Given the description of an element on the screen output the (x, y) to click on. 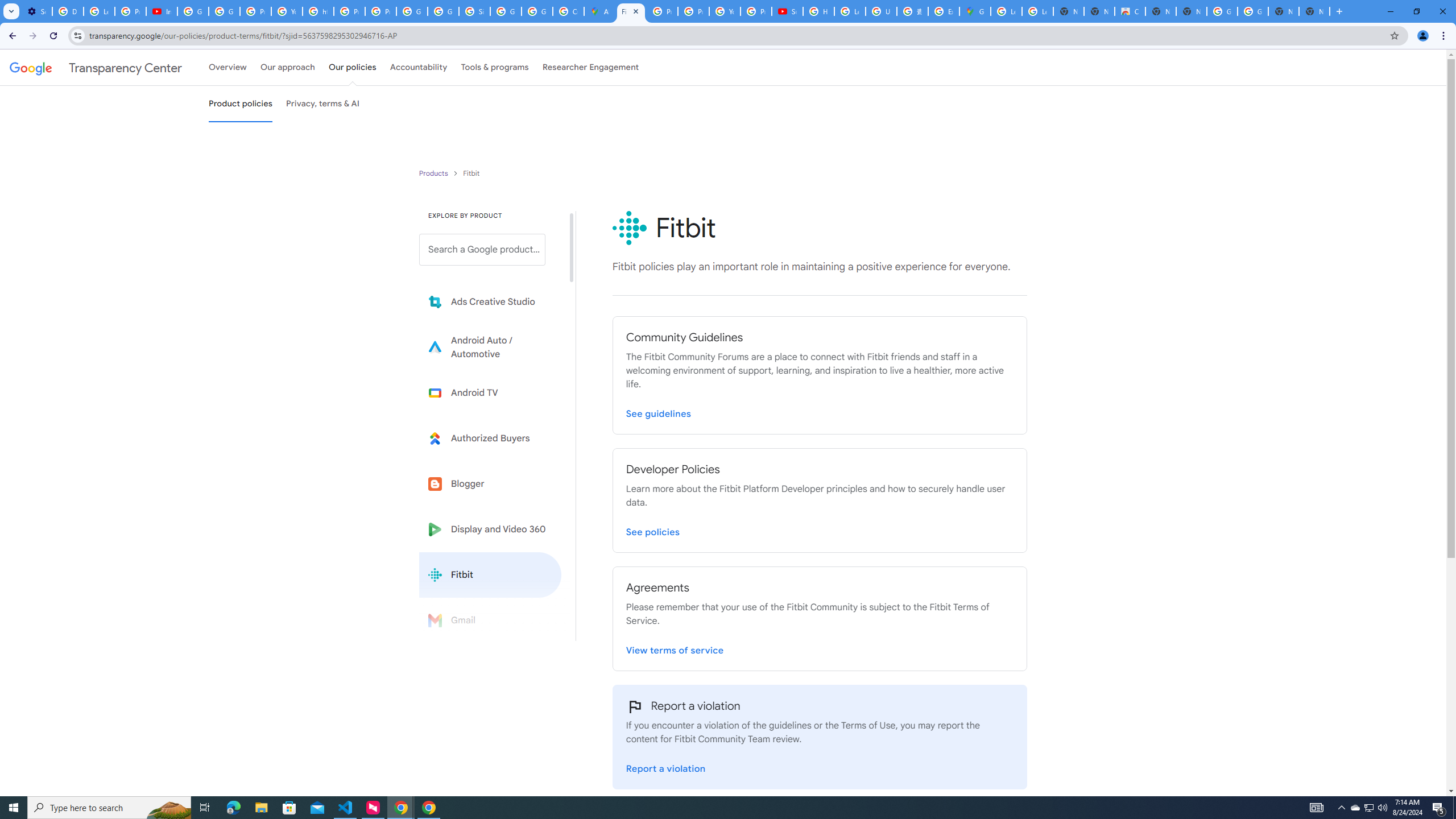
Learn more about Android Auto (490, 347)
Learn more about Android Auto (490, 347)
Learn more about Android TV (490, 393)
Tools & programs (494, 67)
Fitbit (490, 574)
Blogger (490, 483)
Fitbit Policies and Guidelines - Transparency Center (631, 11)
Settings - Performance (36, 11)
Blogger (490, 483)
Delete photos & videos - Computer - Google Photos Help (67, 11)
